Given the description of an element on the screen output the (x, y) to click on. 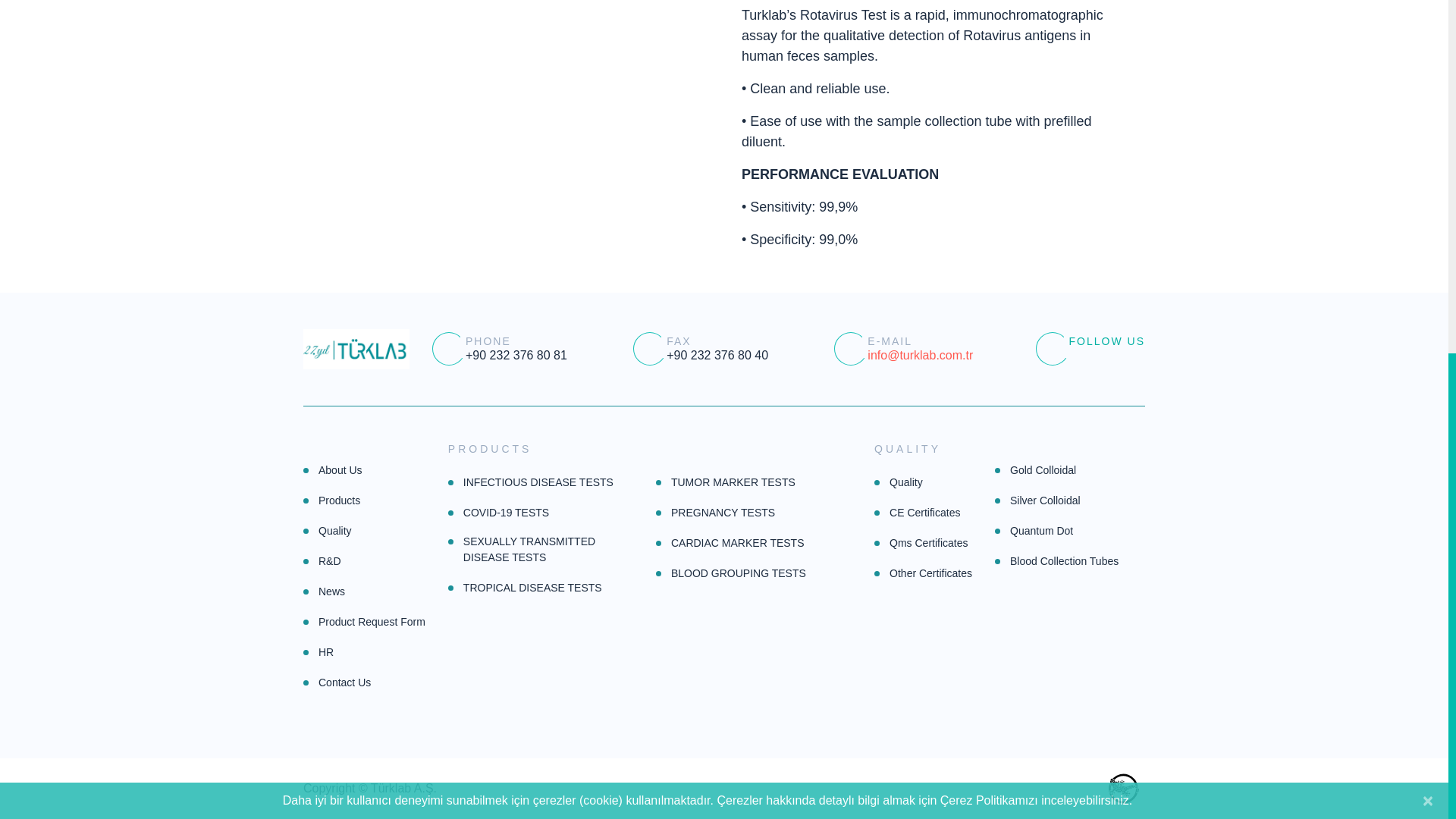
Page 22 (933, 125)
